Given the description of an element on the screen output the (x, y) to click on. 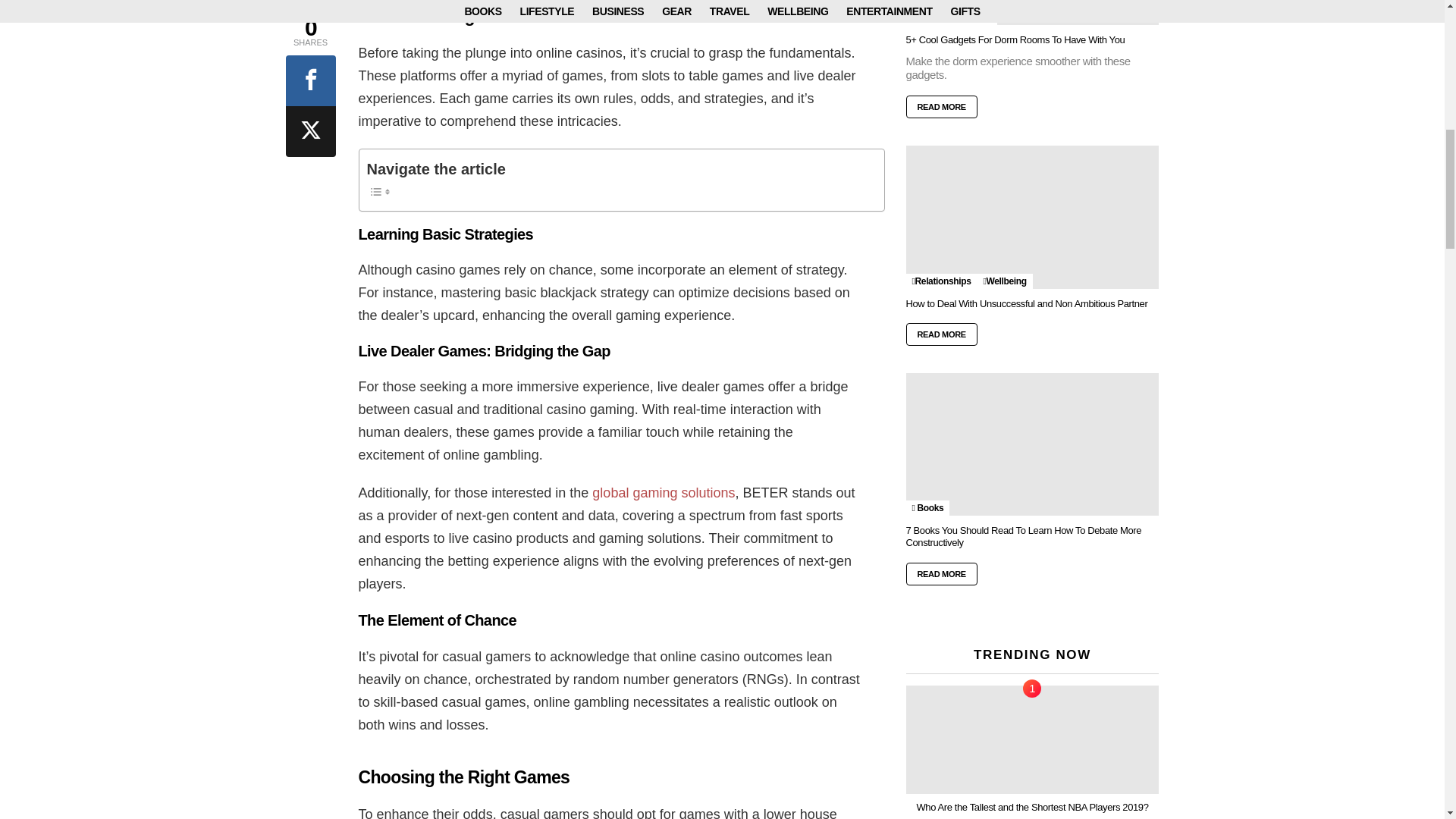
global gaming solutions (663, 492)
